Given the description of an element on the screen output the (x, y) to click on. 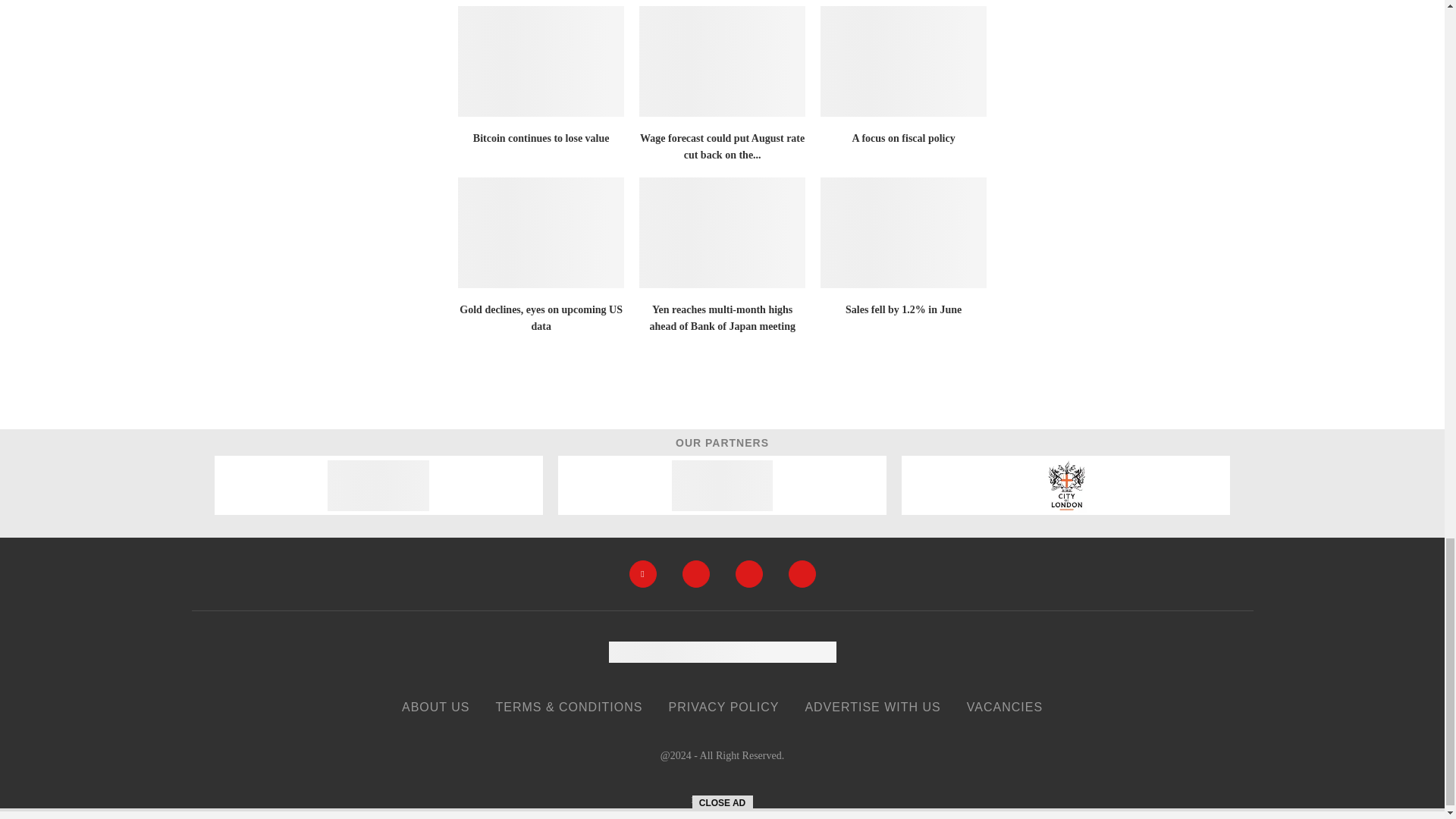
Gold declines, eyes on upcoming US data (541, 232)
Bitcoin continues to lose value (541, 61)
Yen reaches multi-month highs ahead of Bank of Japan meeting (722, 232)
Wage forecast could put August rate cut back on the map (722, 61)
A focus on fiscal policy (904, 61)
